Given the description of an element on the screen output the (x, y) to click on. 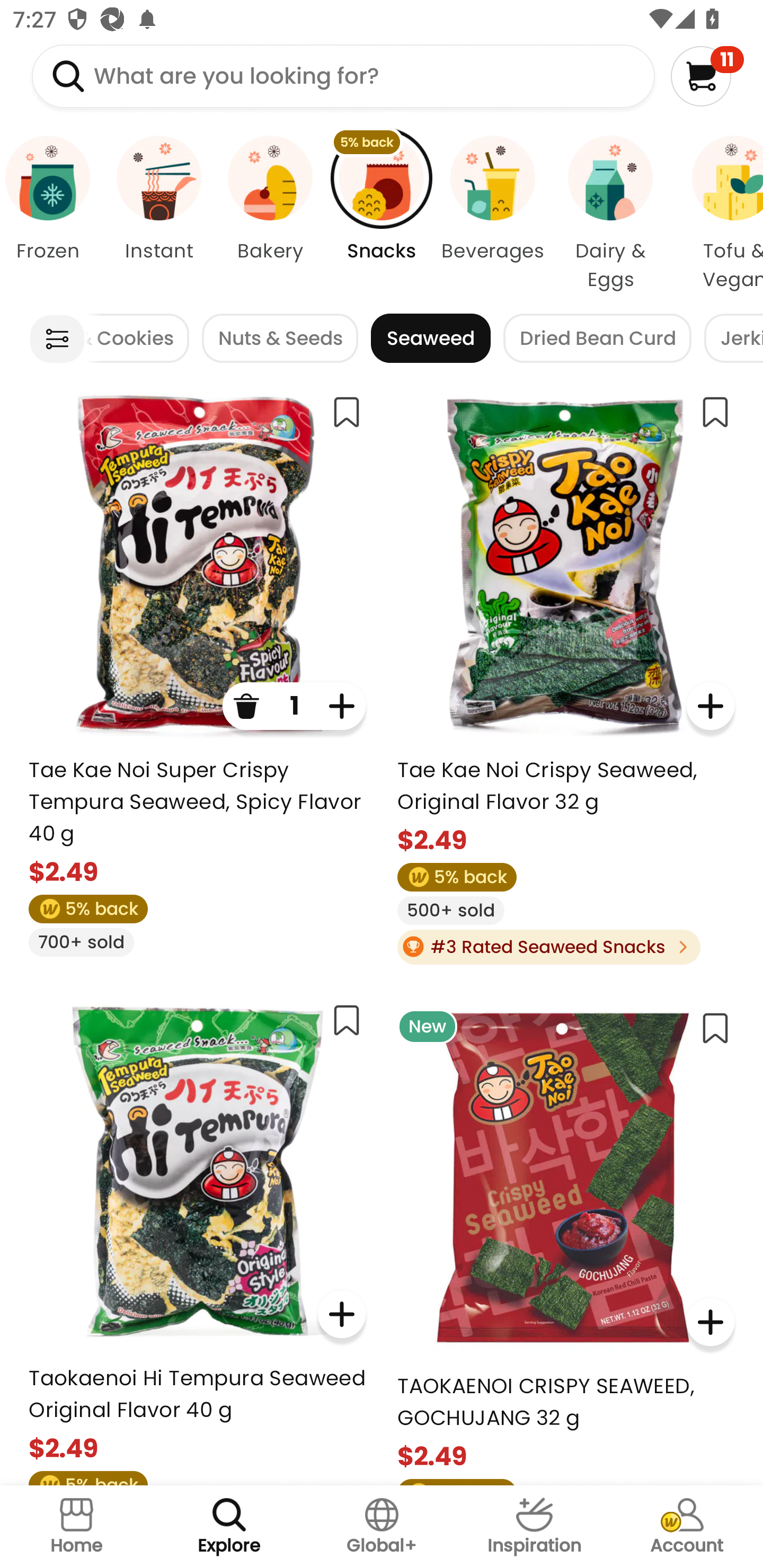
What are you looking for? (343, 75)
11 (706, 75)
Frozen (51, 214)
Instant (158, 214)
Bakery (269, 214)
5% back Snacks (381, 214)
Beverages (492, 214)
Dairy & Eggs (610, 214)
Tofu & Vegan (717, 214)
Crackers & Cookies (137, 337)
Nuts & Seeds (279, 337)
Seaweed (430, 337)
Dried Bean Curd (597, 337)
Home (76, 1526)
Explore (228, 1526)
Global+ (381, 1526)
Inspiration (533, 1526)
Account (686, 1526)
